Given the description of an element on the screen output the (x, y) to click on. 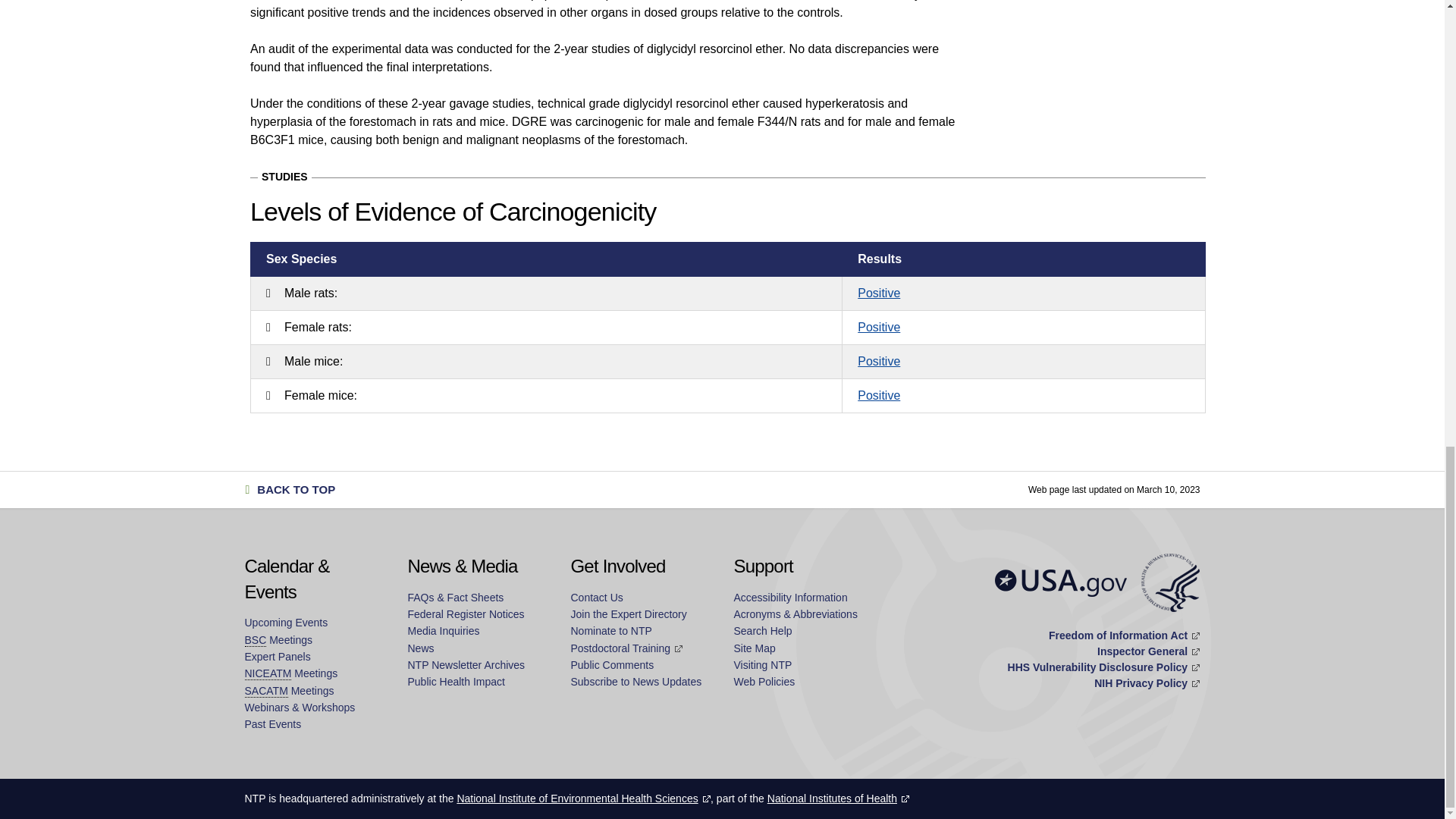
Positive (878, 292)
USA.gov: Government Made Easy (1060, 583)
NTP Board of Scientific Counselors (255, 640)
